Given the description of an element on the screen output the (x, y) to click on. 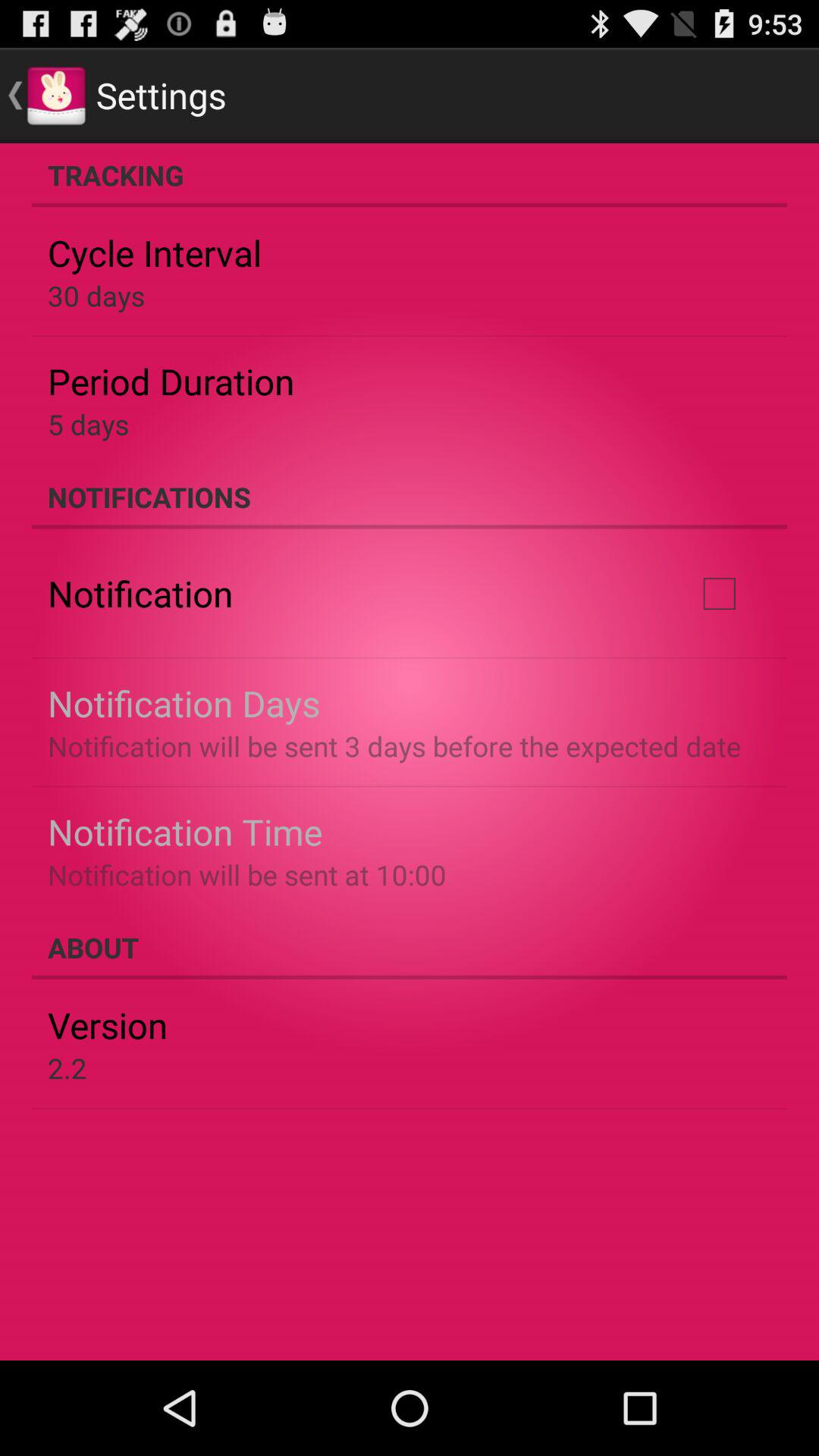
tap app above the notification will be (184, 831)
